Given the description of an element on the screen output the (x, y) to click on. 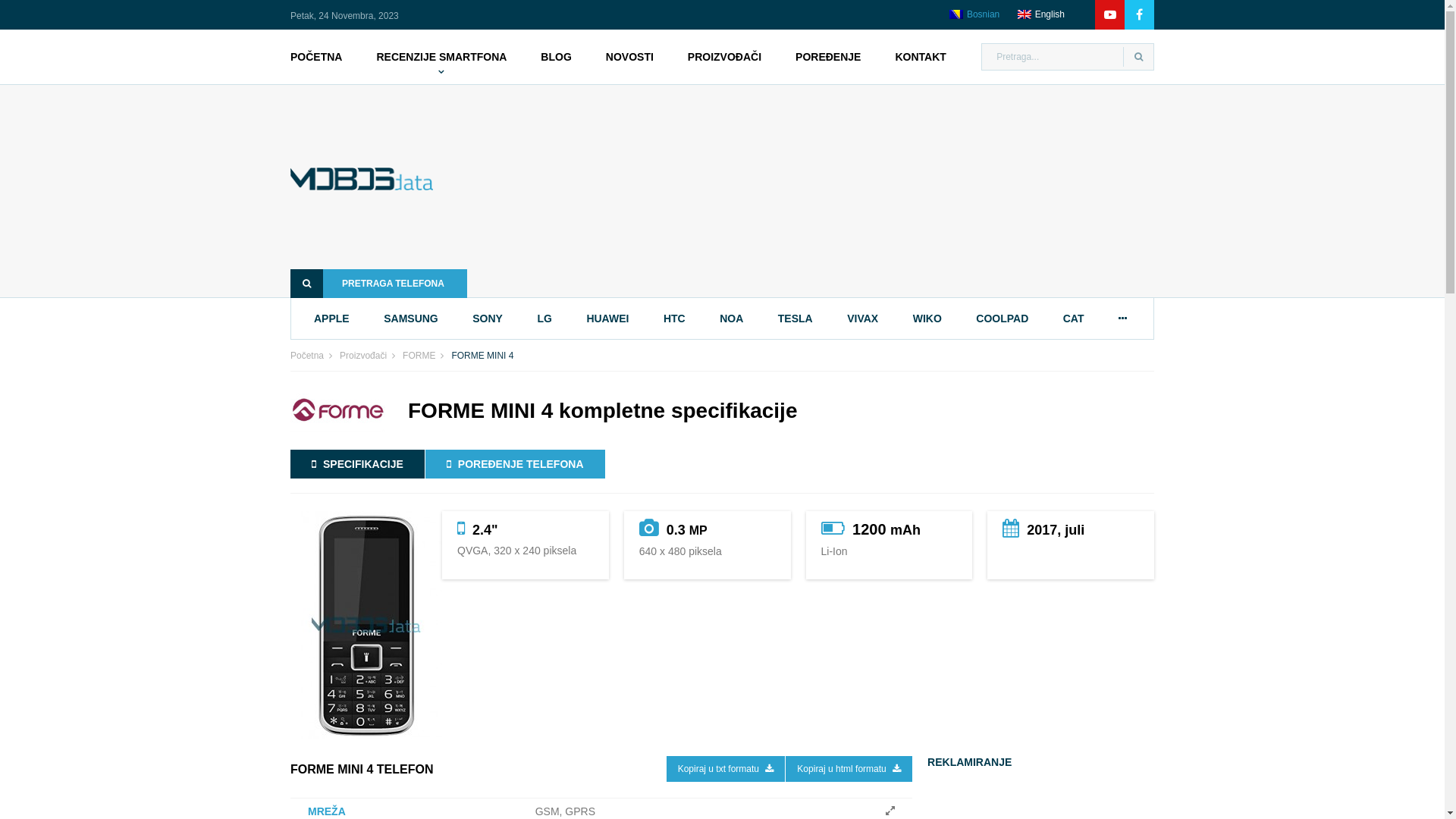
NOVOSTI Element type: text (629, 56)
LG Element type: text (545, 318)
English Element type: text (1040, 14)
Kopiraj u txt formatu Element type: text (725, 768)
KONTAKT Element type: text (919, 56)
VIVAX Element type: text (864, 318)
RECENZIJE SMARTFONA Element type: text (441, 56)
FORME MINI 4 specifikacije i karakteristike Element type: hover (366, 624)
HTC Element type: text (675, 318)
SPECIFIKACIJE Element type: text (357, 463)
SAMSUNG Element type: text (412, 318)
FORME Element type: text (426, 355)
Advertisement Element type: hover (816, 190)
PRETRAGA TELEFONA Element type: text (378, 283)
Bosnian Element type: text (974, 14)
Kopiraj u html formatu Element type: text (848, 768)
Bosnian Element type: hover (956, 13)
TESLA Element type: text (797, 318)
APPLE Element type: text (333, 318)
WIKO Element type: text (929, 318)
HUAWEI Element type: text (609, 318)
CAT Element type: text (1075, 318)
COOLPAD Element type: text (1003, 318)
SONY Element type: text (489, 318)
English Element type: hover (1024, 13)
BLOG Element type: text (555, 56)
NOA Element type: text (733, 318)
